Given the description of an element on the screen output the (x, y) to click on. 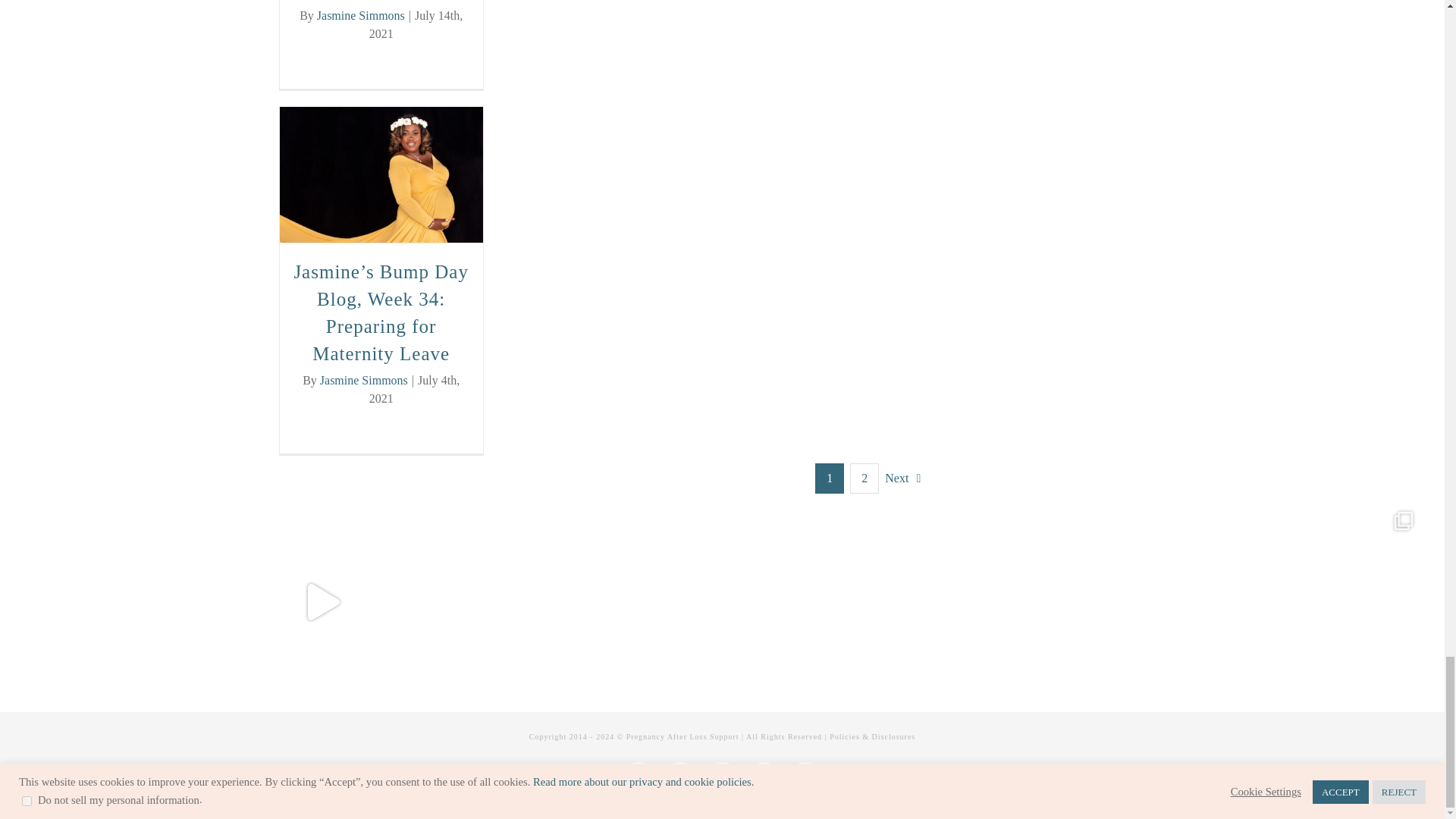
Facebook (638, 779)
Instagram (680, 779)
Pinterest (721, 779)
Posts by Jasmine Simmons (363, 379)
Posts by Jasmine Simmons (360, 15)
